Given the description of an element on the screen output the (x, y) to click on. 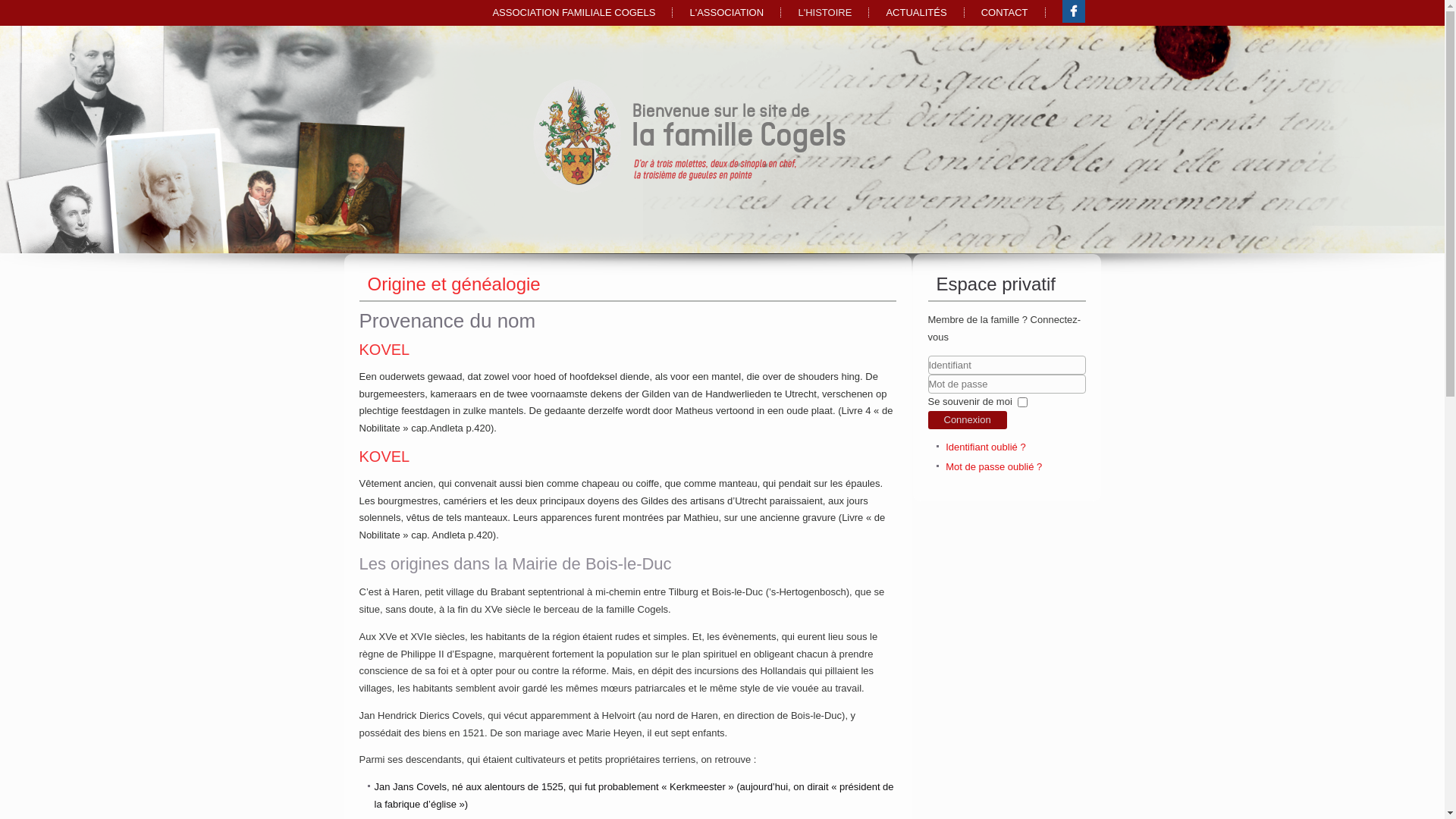
Connexion Element type: text (967, 420)
ASSOCIATION FAMILIALE COGELS Element type: text (573, 12)
L'ASSOCIATION Element type: text (726, 12)
L'HISTOIRE Element type: text (824, 12)
CONTACT Element type: text (1004, 12)
